Given the description of an element on the screen output the (x, y) to click on. 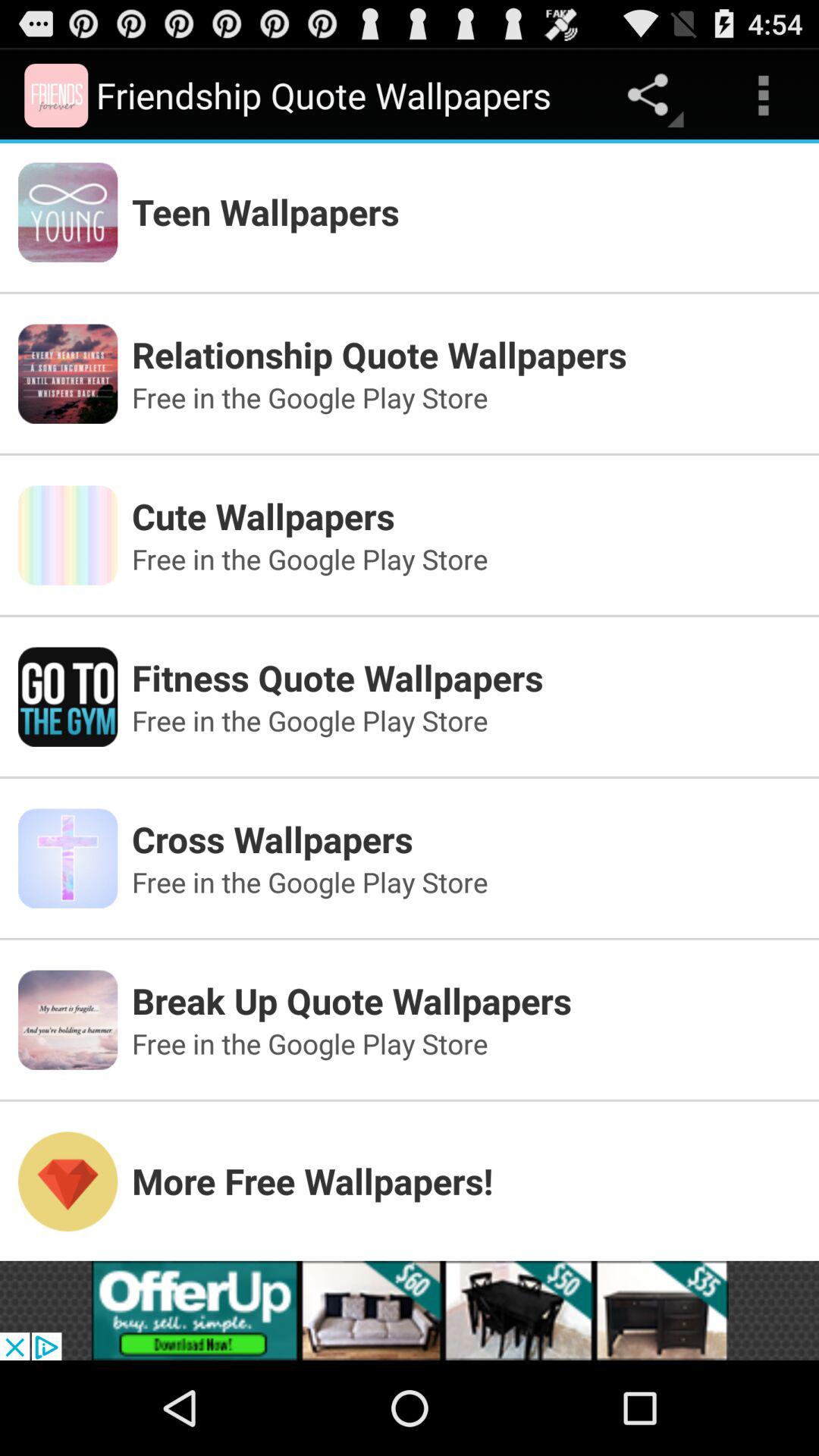
add the option (409, 1310)
